Given the description of an element on the screen output the (x, y) to click on. 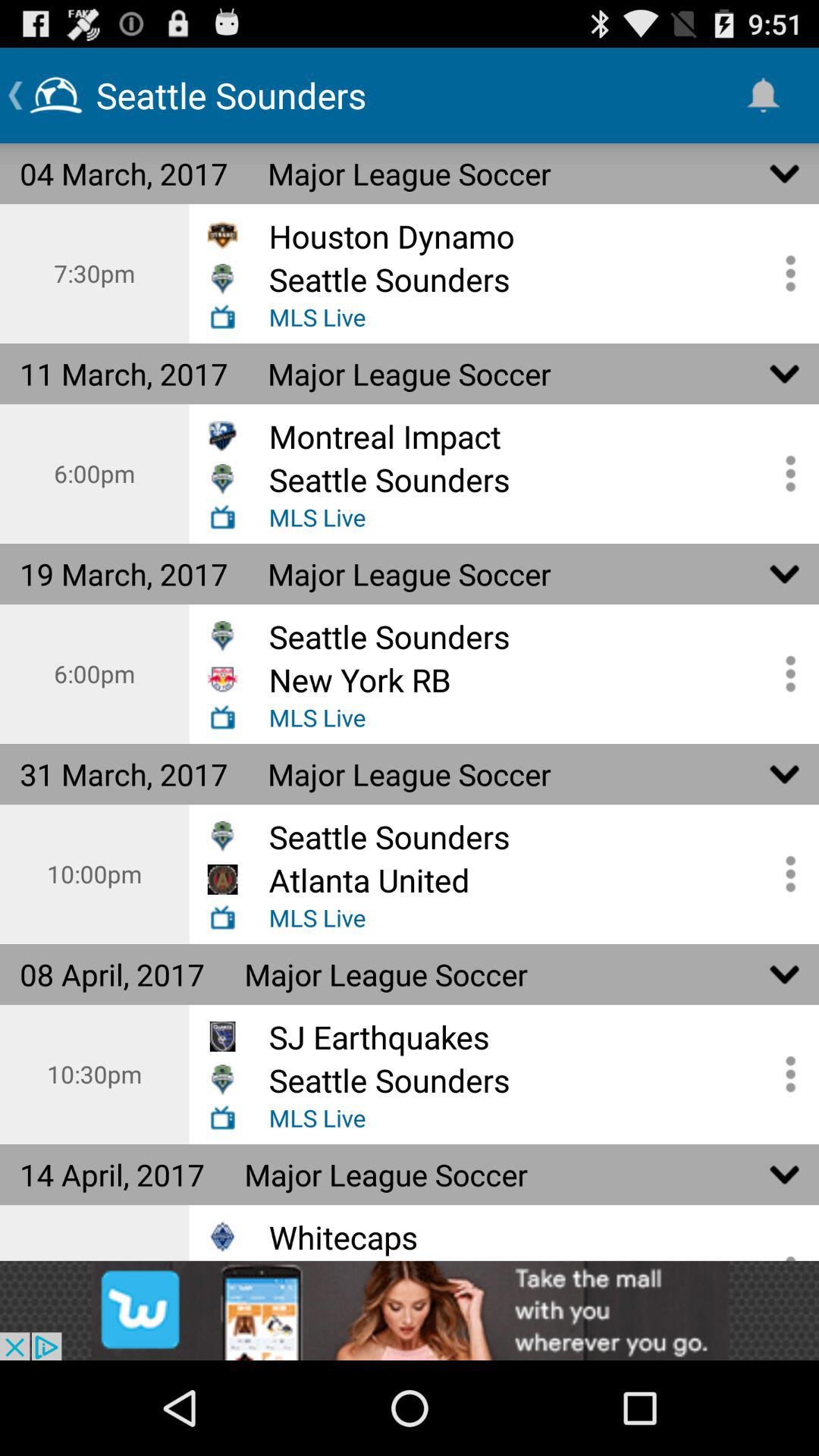
open mls options (785, 874)
